Given the description of an element on the screen output the (x, y) to click on. 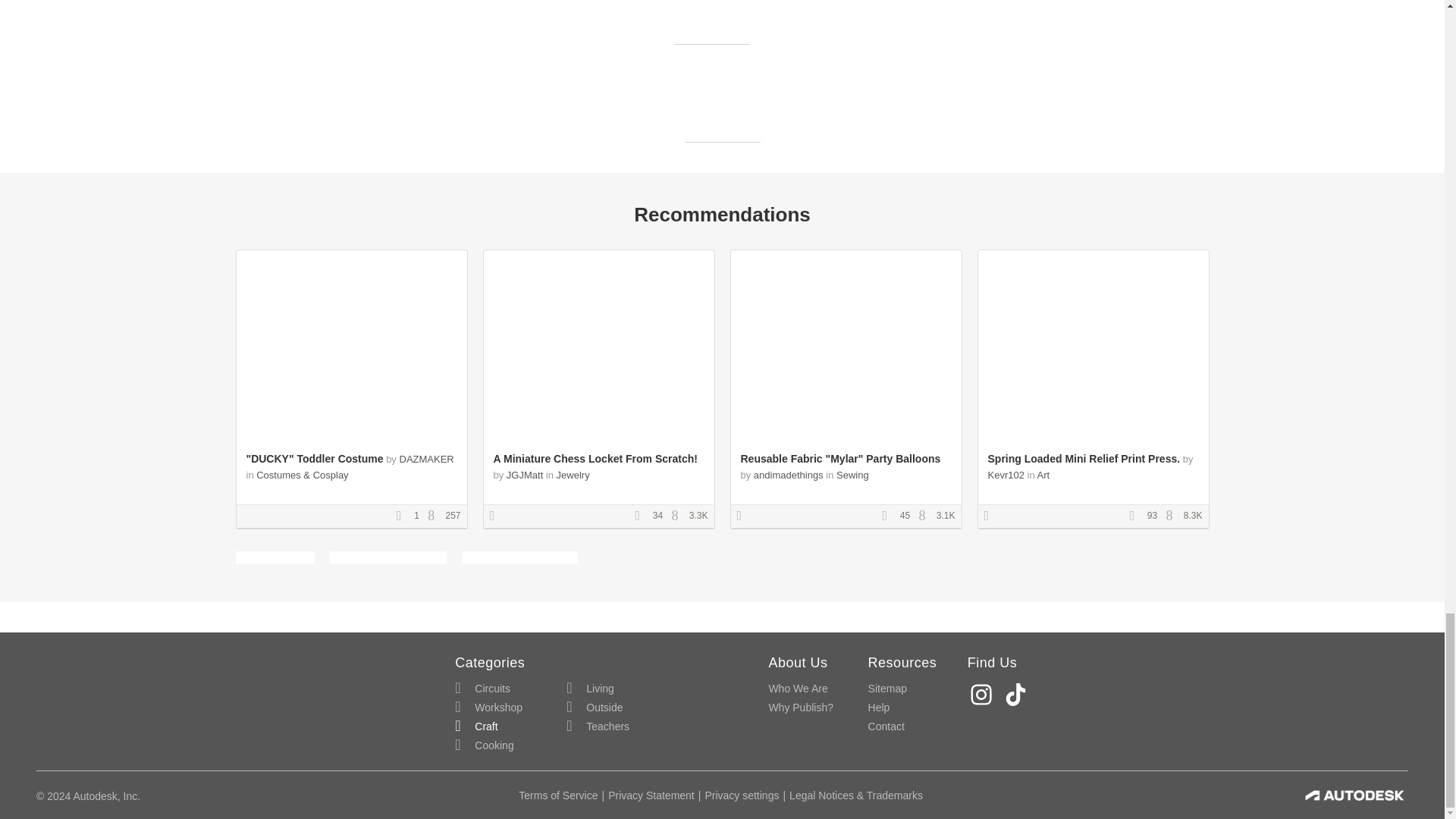
Views Count (925, 516)
Reusable Fabric "Mylar" Party Balloons (839, 458)
Contest Winner (744, 516)
Sewing (852, 474)
DAZMAKER (425, 459)
Contest Winner (991, 516)
Kevr102 (1005, 474)
Jewelry (572, 474)
Spring Loaded Mini Relief Print Press. (1083, 458)
Art (1042, 474)
A Miniature Chess Locket From Scratch! (595, 458)
Views Count (435, 516)
Favorites Count (889, 516)
JGJMatt (524, 474)
Views Count (678, 516)
